Given the description of an element on the screen output the (x, y) to click on. 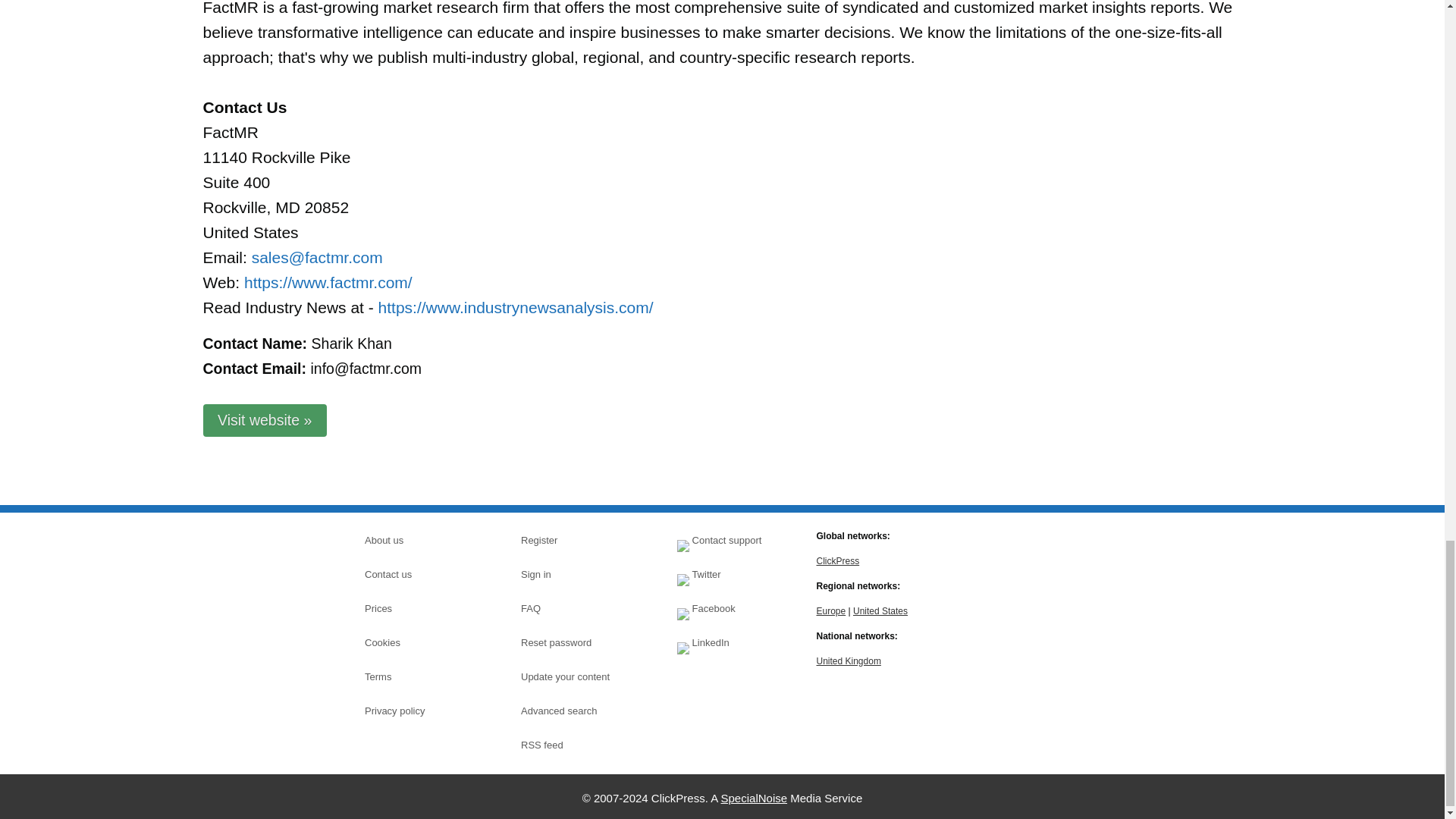
Privacy policy (417, 711)
Prices (417, 608)
Contact us (417, 574)
Register (574, 540)
Terms (417, 676)
Facebook (730, 608)
Sign in (574, 574)
FAQ (574, 608)
About us (417, 540)
Cookies (417, 642)
